Given the description of an element on the screen output the (x, y) to click on. 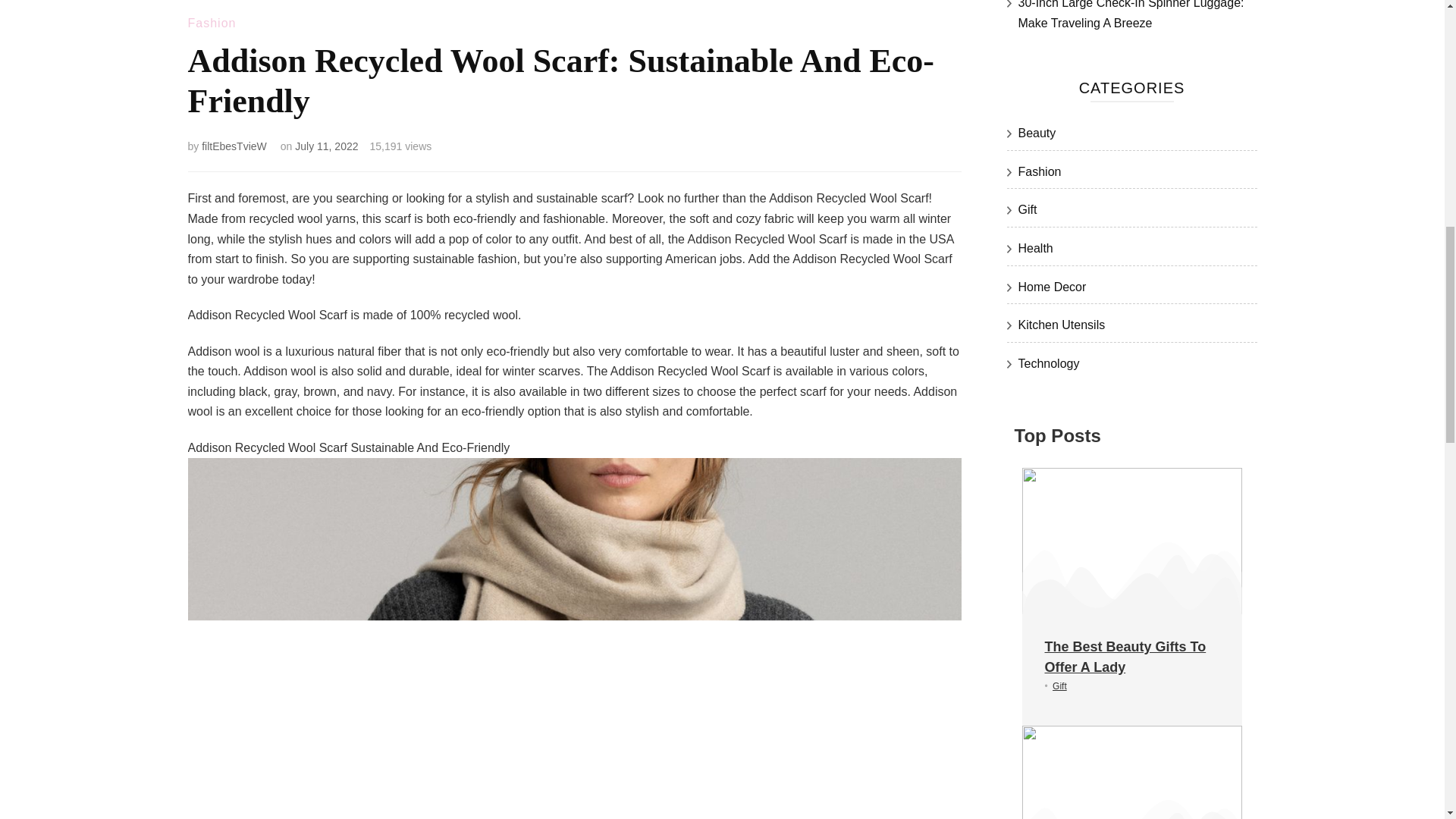
Fashion (211, 22)
filtEbesTvieW (234, 146)
Beauty (1036, 132)
July 11, 2022 (326, 146)
